Given the description of an element on the screen output the (x, y) to click on. 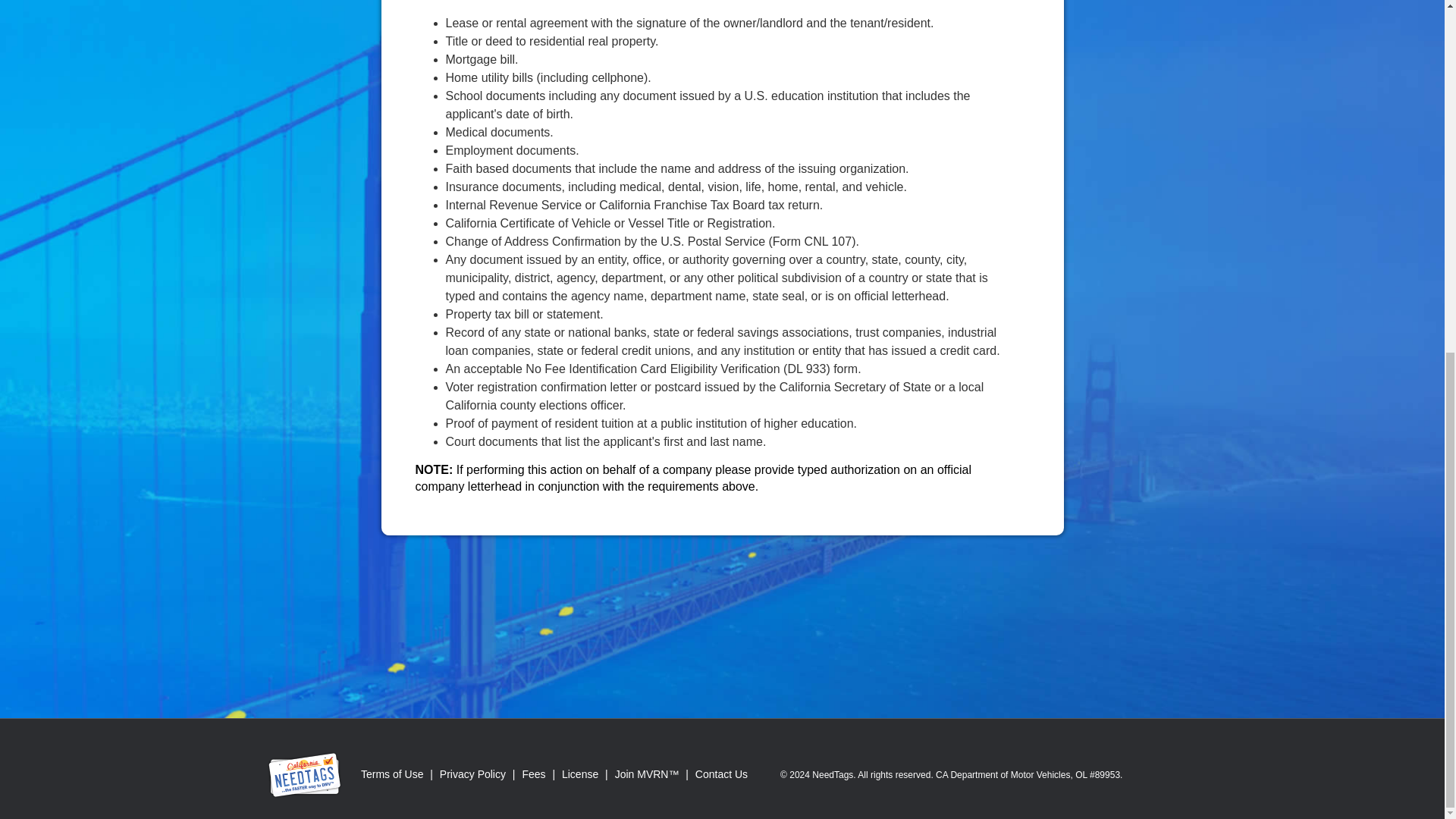
Contact Us (721, 774)
Terms of Use (391, 774)
NeedTags DMV License (579, 774)
Privacy Policy (472, 774)
Fees (533, 774)
Contact Us (721, 774)
Terms of Use (391, 774)
Fees (533, 774)
Affiliate Program (646, 774)
Privacy Policy (472, 774)
